Given the description of an element on the screen output the (x, y) to click on. 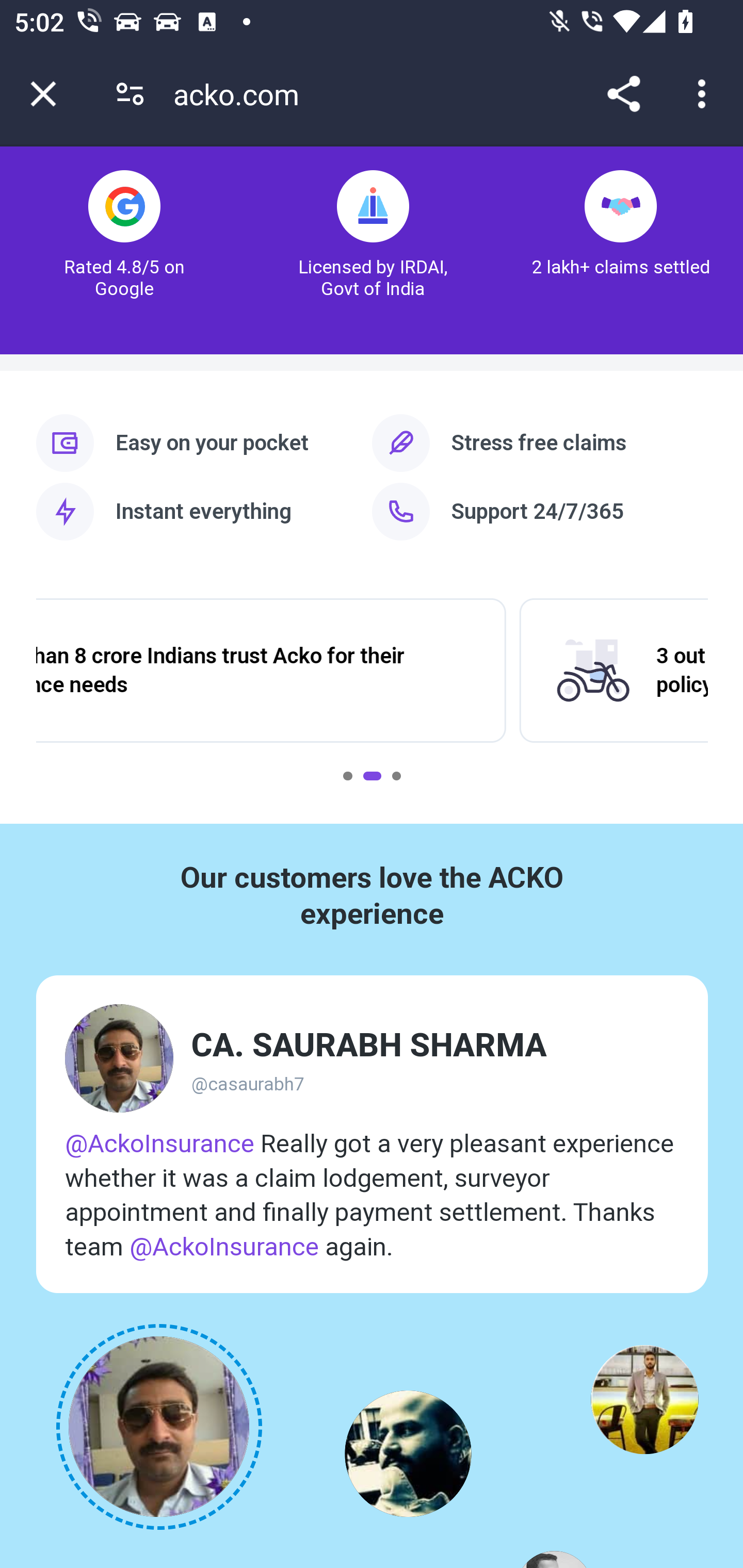
Close tab (43, 93)
Share (623, 93)
Customize and control Google Chrome (705, 93)
Connection is secure (129, 93)
acko.com (243, 93)
